Given the description of an element on the screen output the (x, y) to click on. 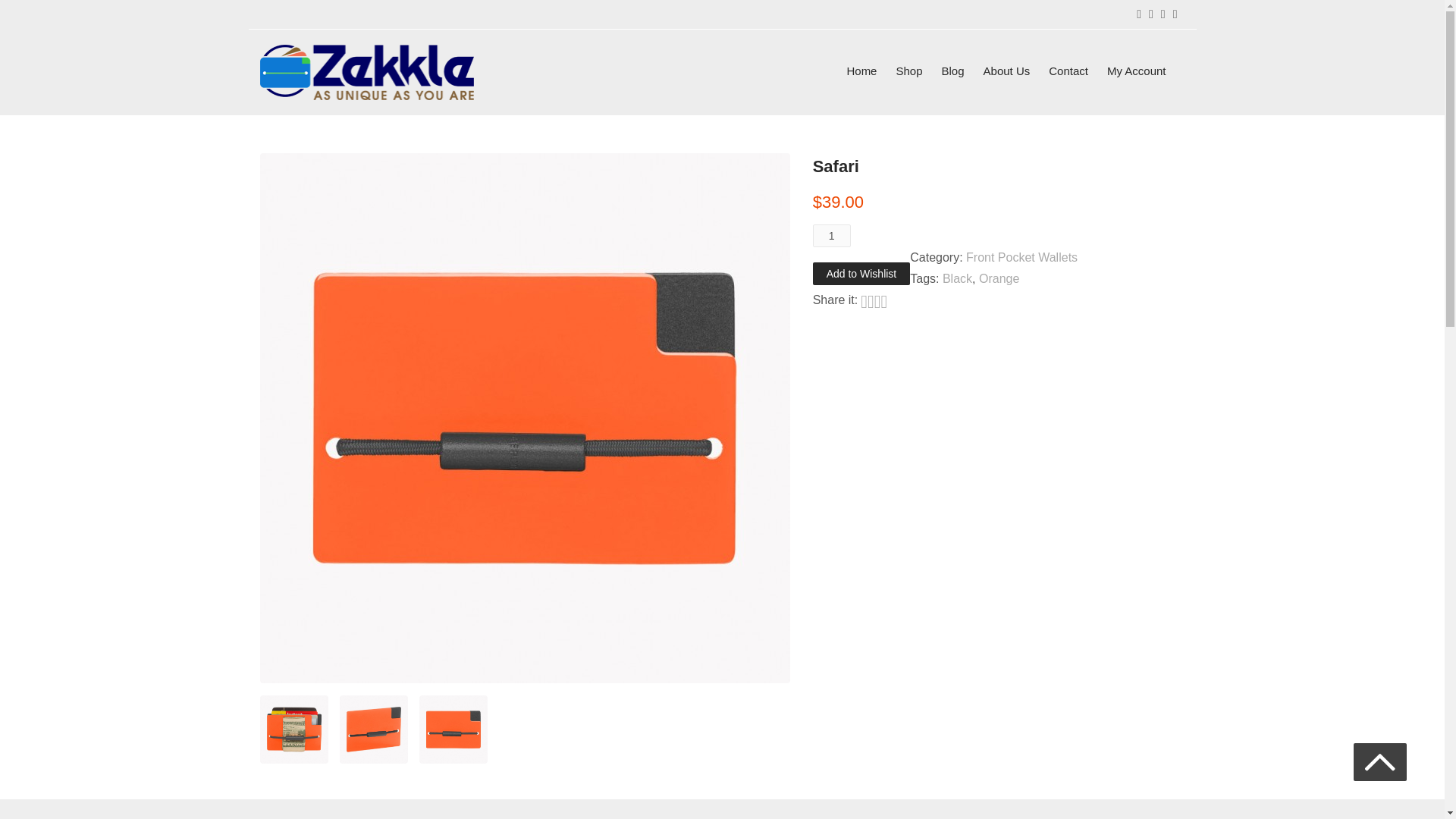
Zekkle Front Pocket Wallets Logo (366, 72)
Orange (998, 278)
Front Pocket Wallets (1021, 256)
768 (36, 18)
About Us (1007, 70)
Blog (952, 70)
My Account (1136, 70)
1 (831, 235)
Home (860, 70)
Shop (908, 70)
